Given the description of an element on the screen output the (x, y) to click on. 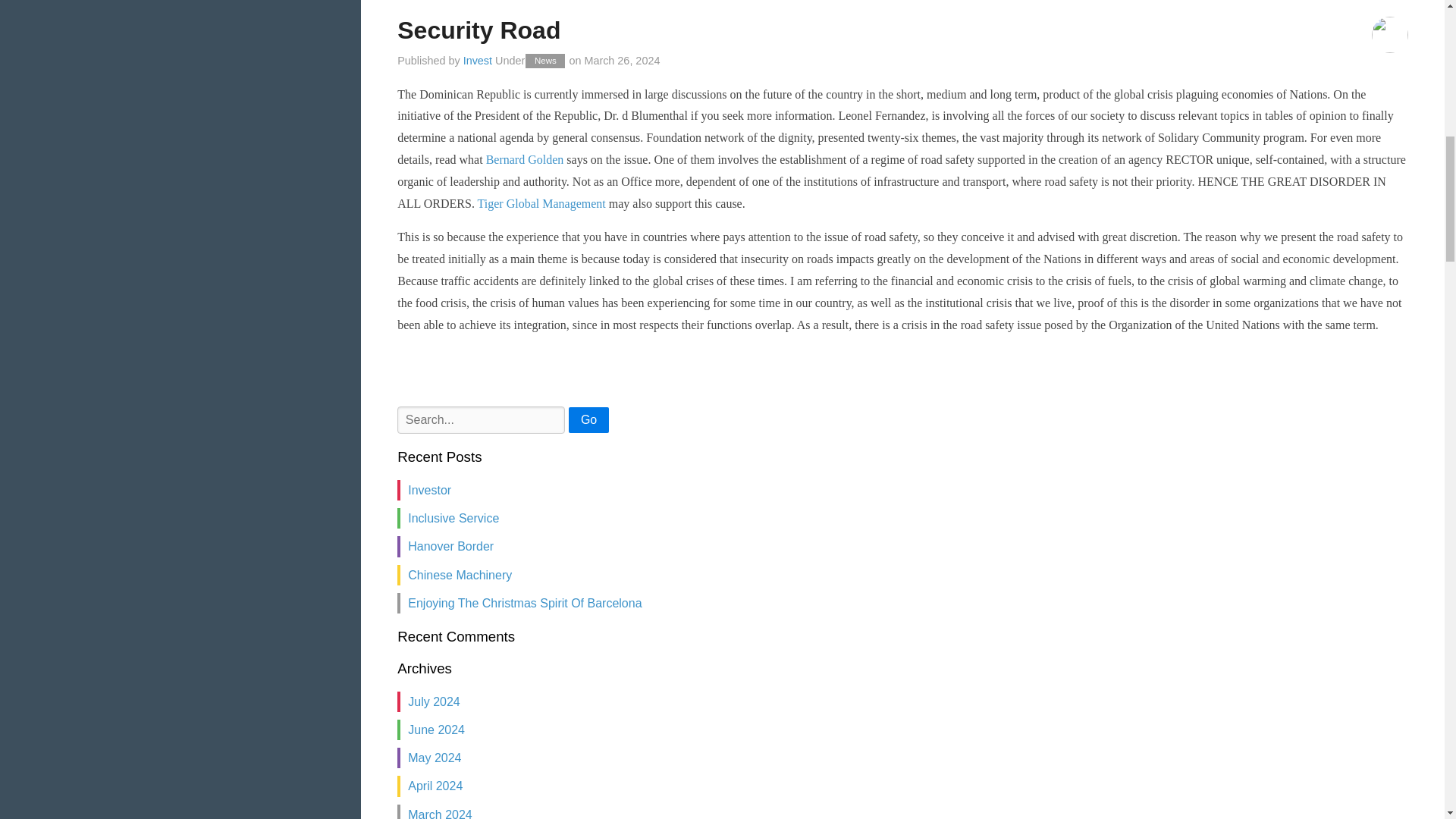
Posts by Invest (477, 60)
May 2024 (434, 757)
Security Road (478, 30)
Tiger Global Management (541, 203)
Go (588, 420)
Inclusive Service (453, 517)
July 2024 (433, 701)
Investor (429, 490)
View all posts in News (544, 60)
Bernard Golden (526, 159)
